Given the description of an element on the screen output the (x, y) to click on. 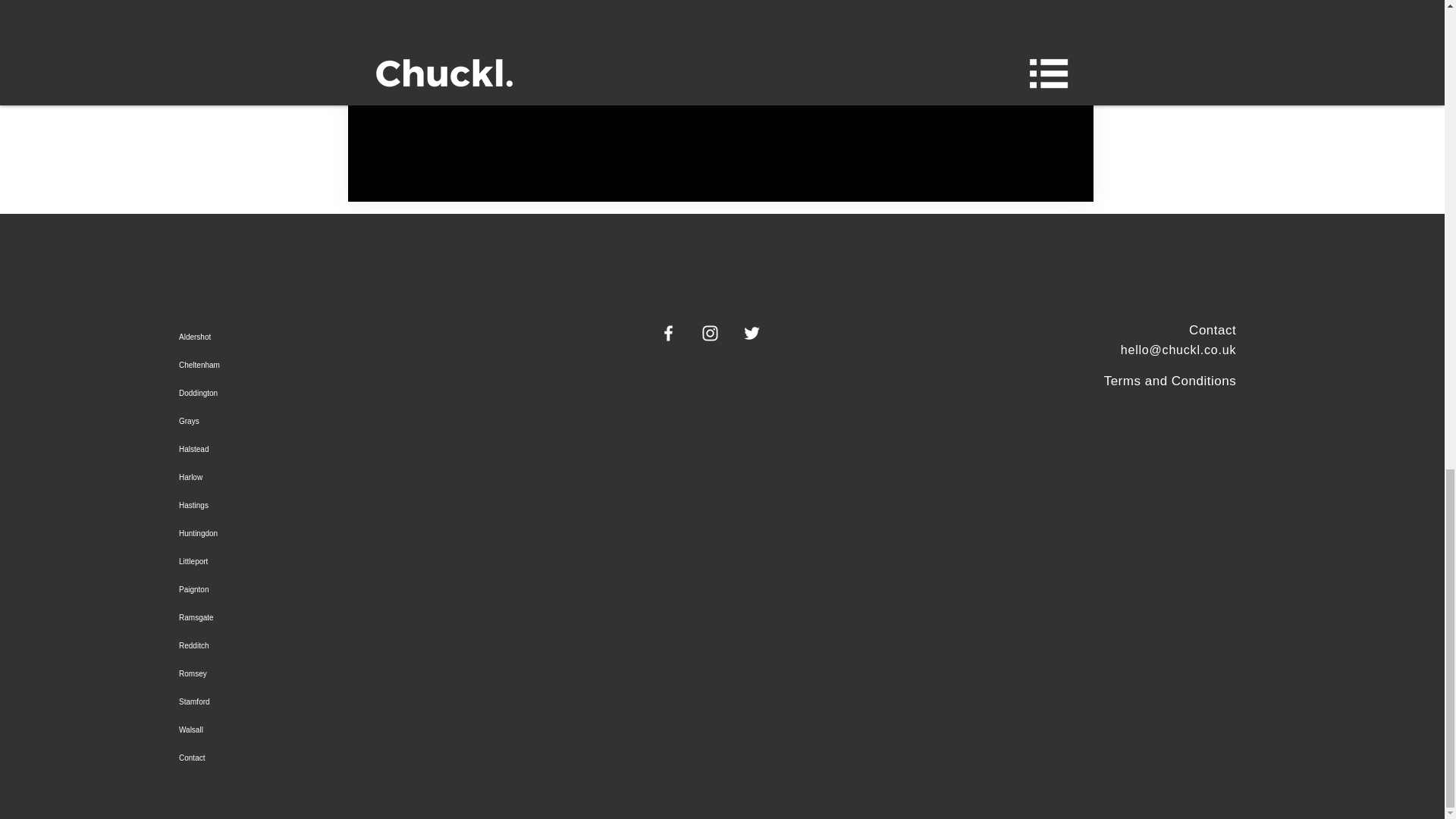
Walsall (323, 729)
Contact (323, 757)
Paignton (323, 589)
Cheltenham (323, 365)
Littleport (323, 561)
Aldershot (323, 336)
Contact (1212, 329)
Redditch (323, 645)
Terms and Conditions (1169, 380)
Stamford (323, 701)
Grays (323, 420)
Harlow (323, 477)
Huntingdon (323, 533)
Halstead (323, 448)
Hastings (323, 505)
